Given the description of an element on the screen output the (x, y) to click on. 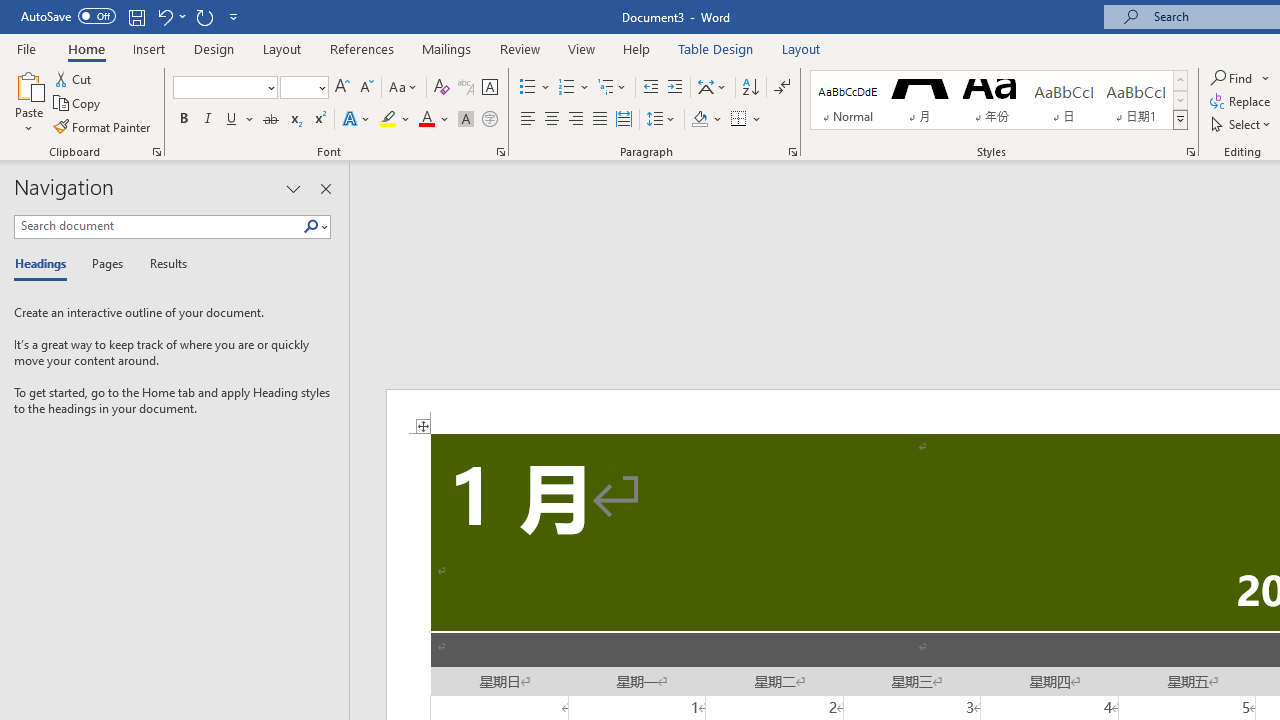
Undo Grow Font (170, 15)
Font Color RGB(255, 0, 0) (426, 119)
